Given the description of an element on the screen output the (x, y) to click on. 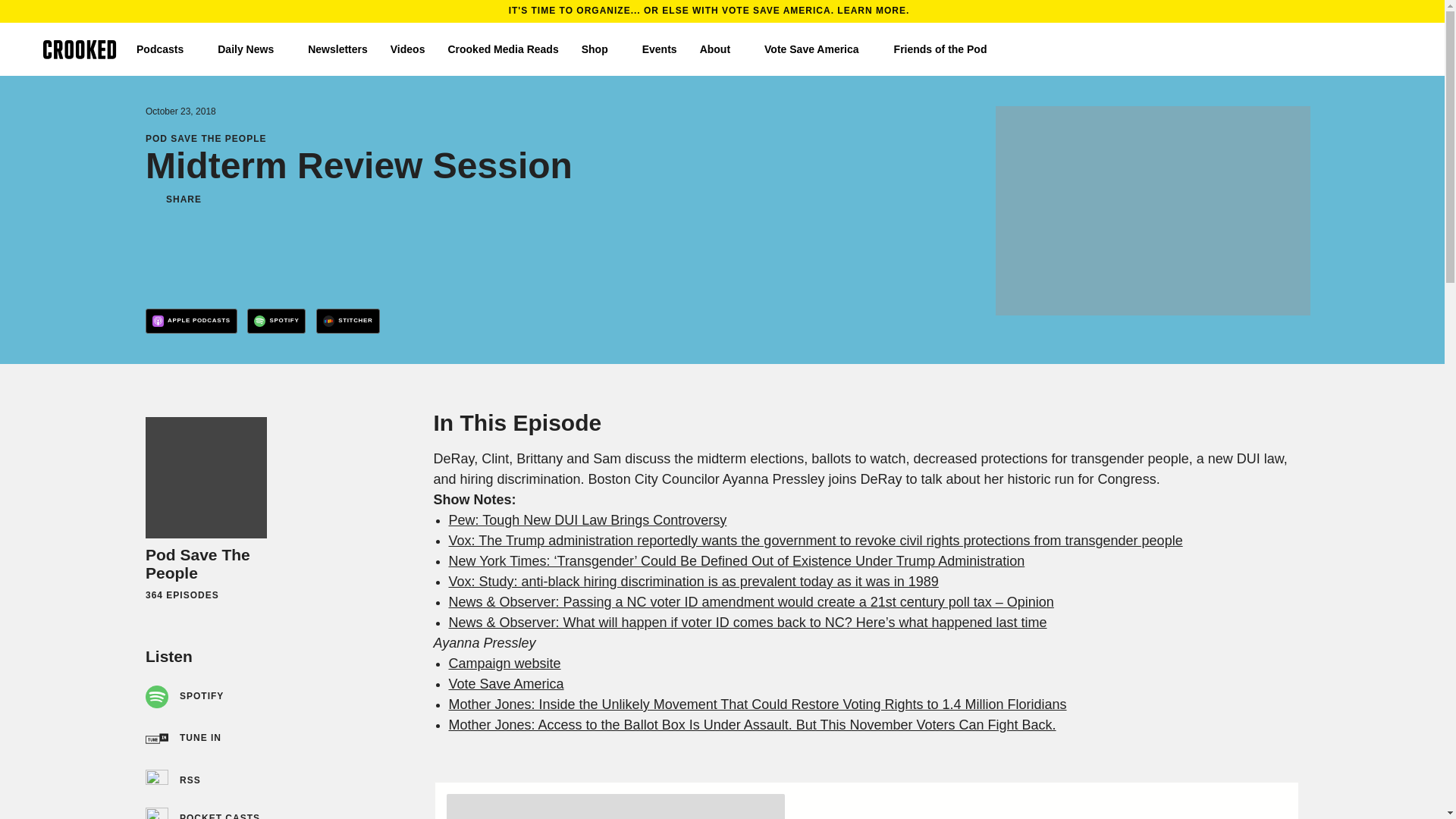
Vote Save America (817, 48)
About (720, 48)
Videos (407, 48)
Newsletters (337, 48)
Friends of the Pod (945, 48)
Crooked Media Reads (501, 48)
Events (659, 48)
Podcasts (165, 48)
